Given the description of an element on the screen output the (x, y) to click on. 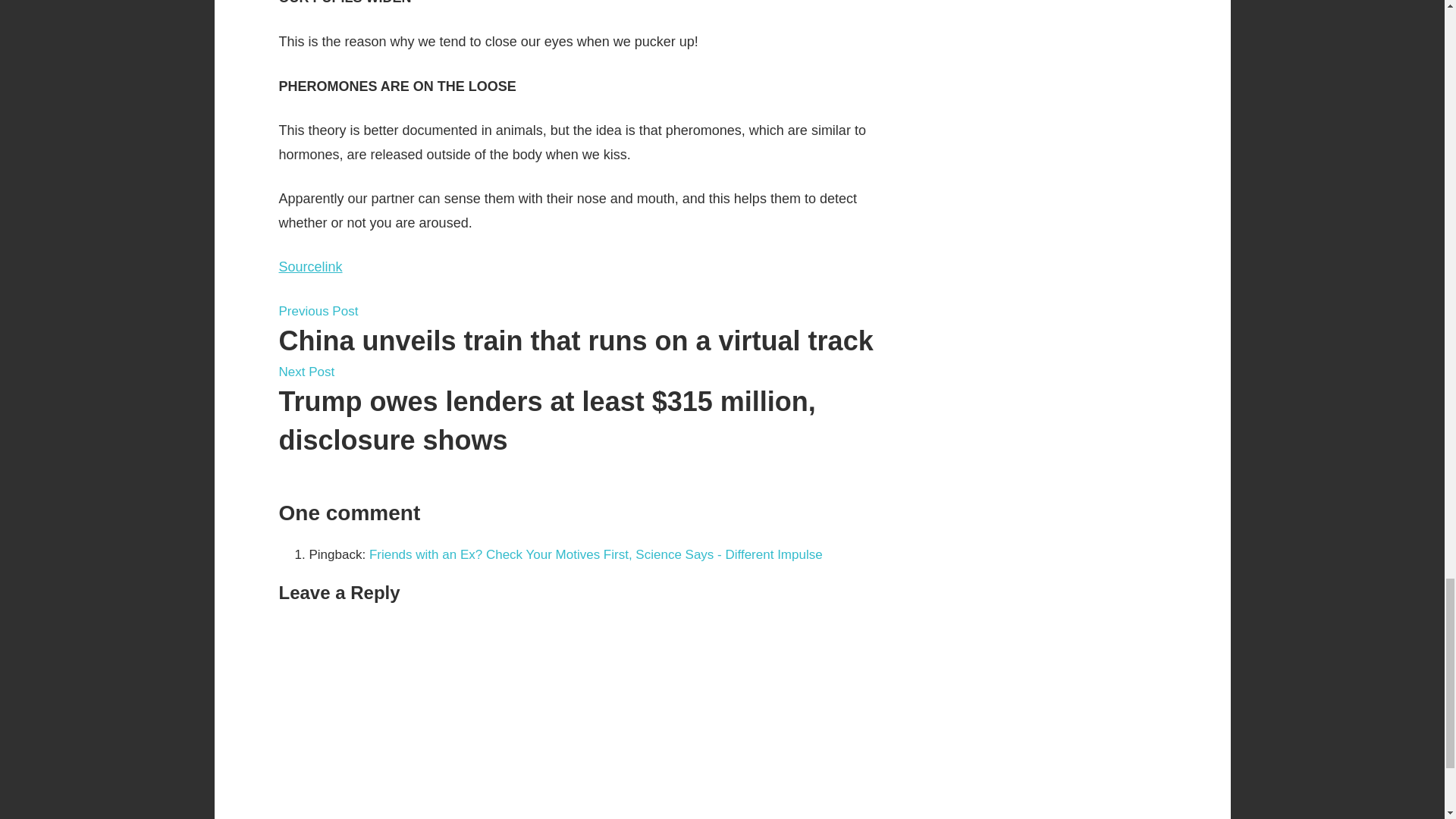
Sourcelink (310, 266)
Comment Form (586, 719)
